Given the description of an element on the screen output the (x, y) to click on. 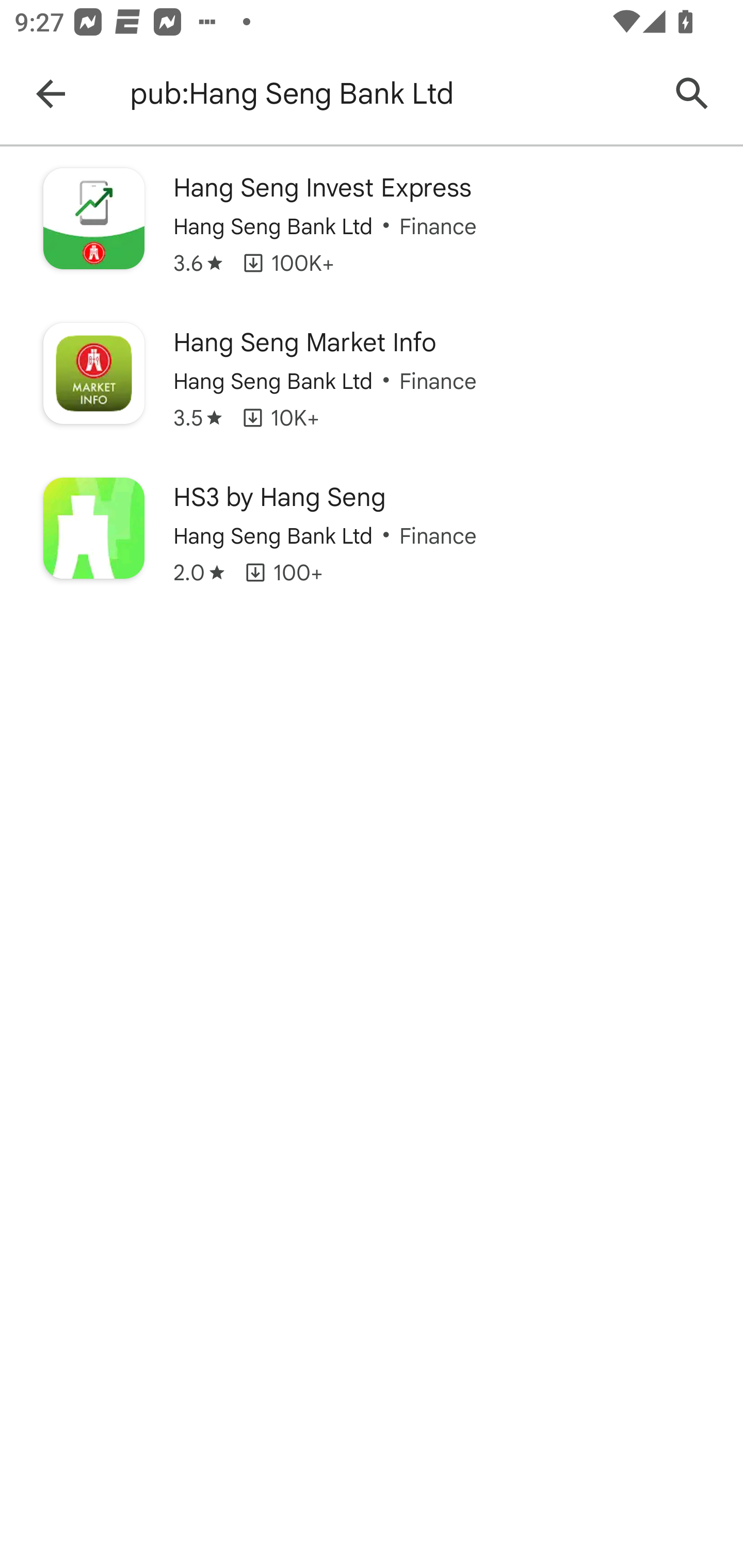
pub:Hang Seng Bank Ltd (389, 93)
Navigate up (50, 93)
Search Google Play (692, 93)
